Given the description of an element on the screen output the (x, y) to click on. 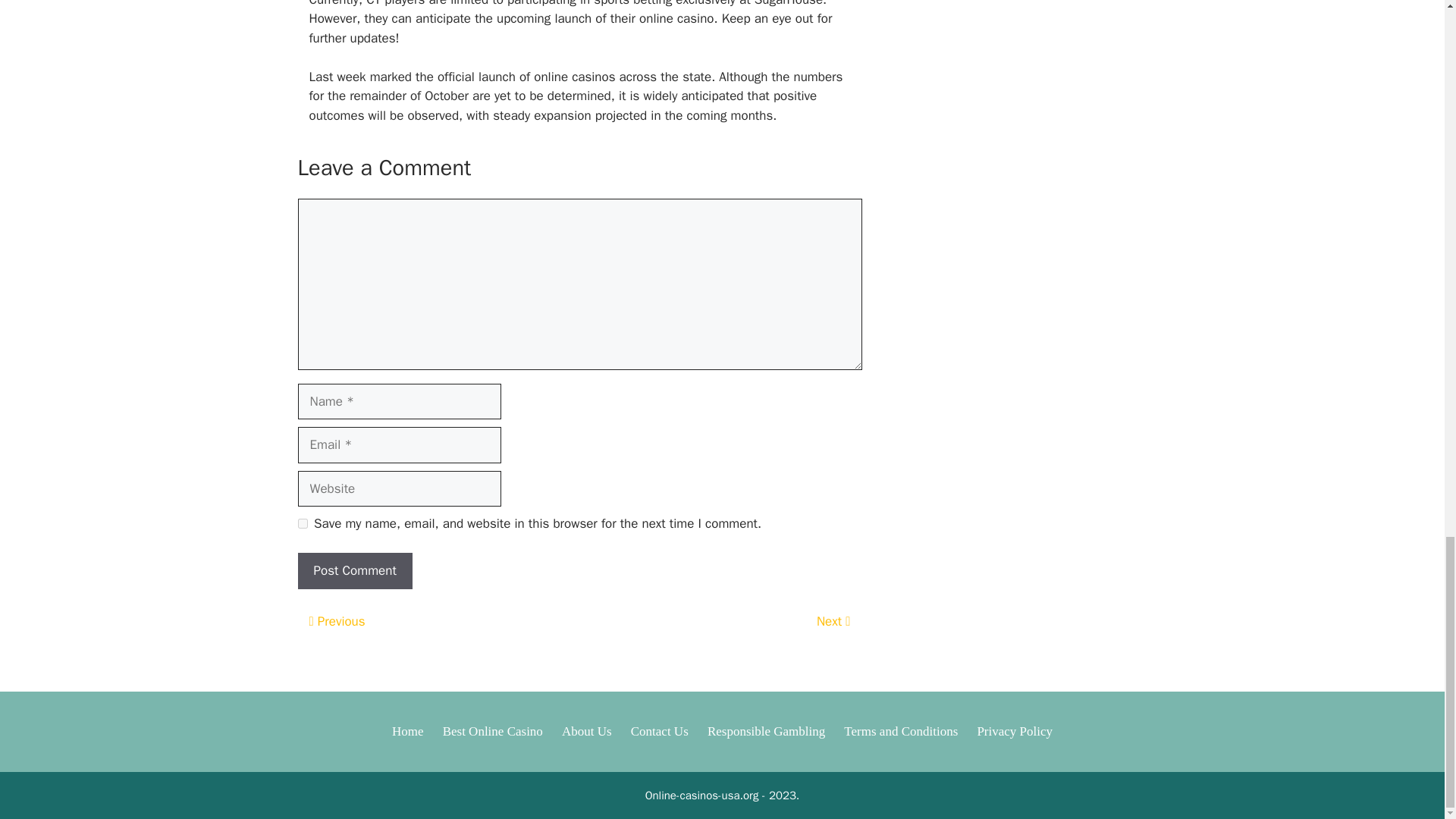
yes (302, 523)
Post Comment (354, 570)
Post Comment (354, 570)
